Given the description of an element on the screen output the (x, y) to click on. 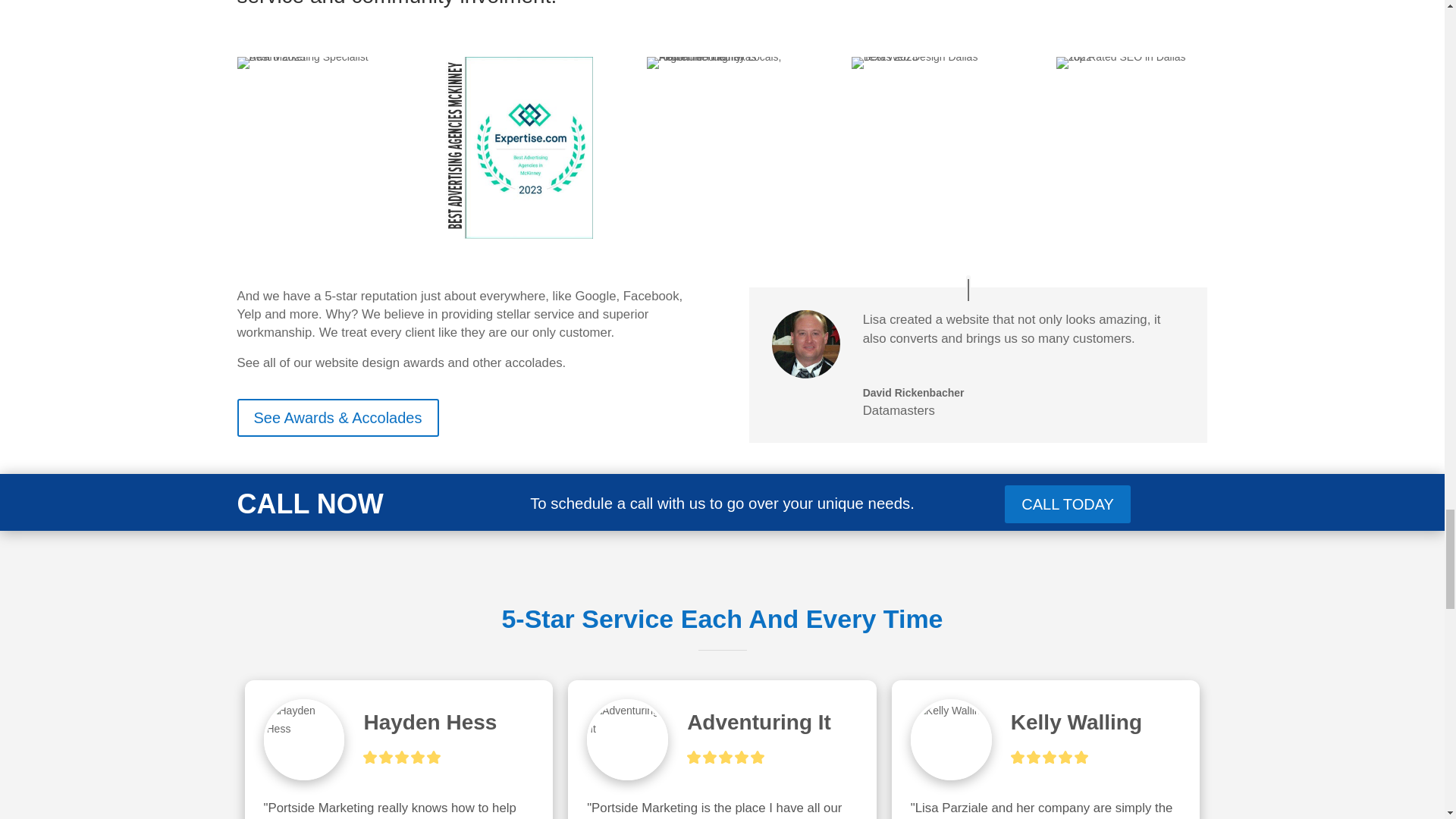
Best Marketing Specialist  Award 2023 (311, 62)
Best Web Design Dallas Texas 2023 (927, 62)
Top Rated SEO in Dallas 2022 (1132, 62)
